Given the description of an element on the screen output the (x, y) to click on. 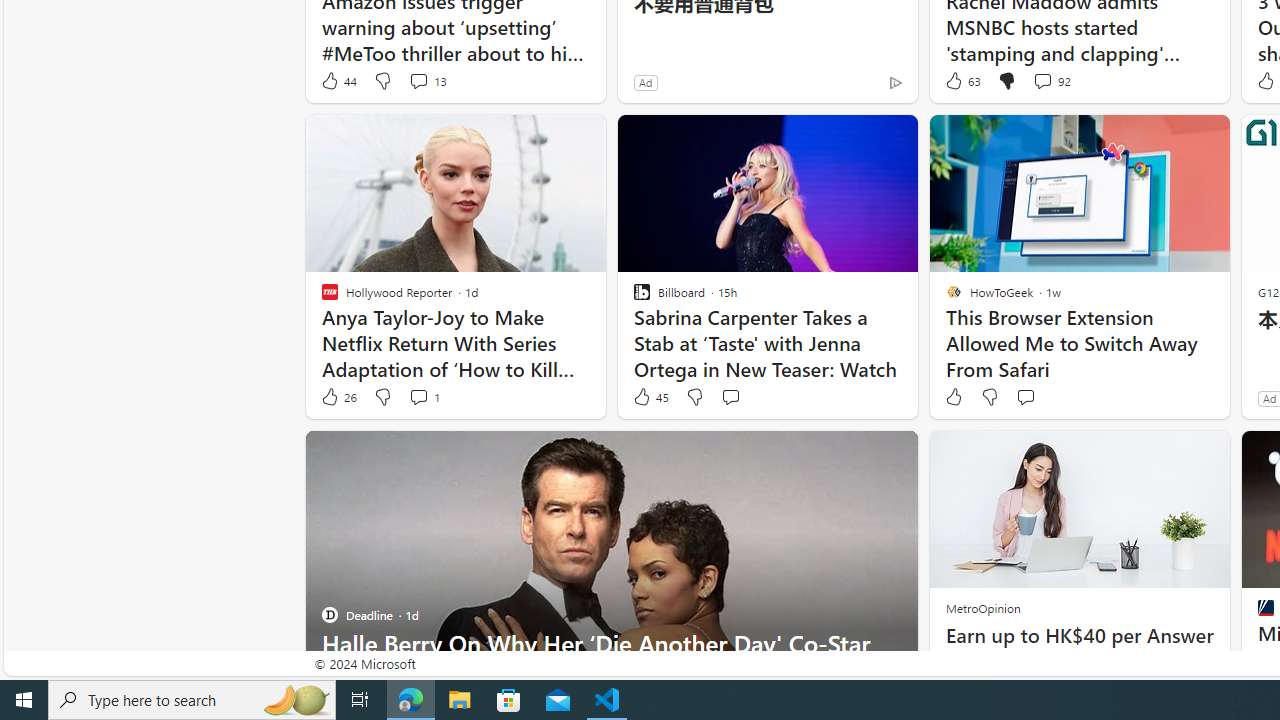
View comments 13 Comment (418, 80)
26 Like (337, 397)
